Given the description of an element on the screen output the (x, y) to click on. 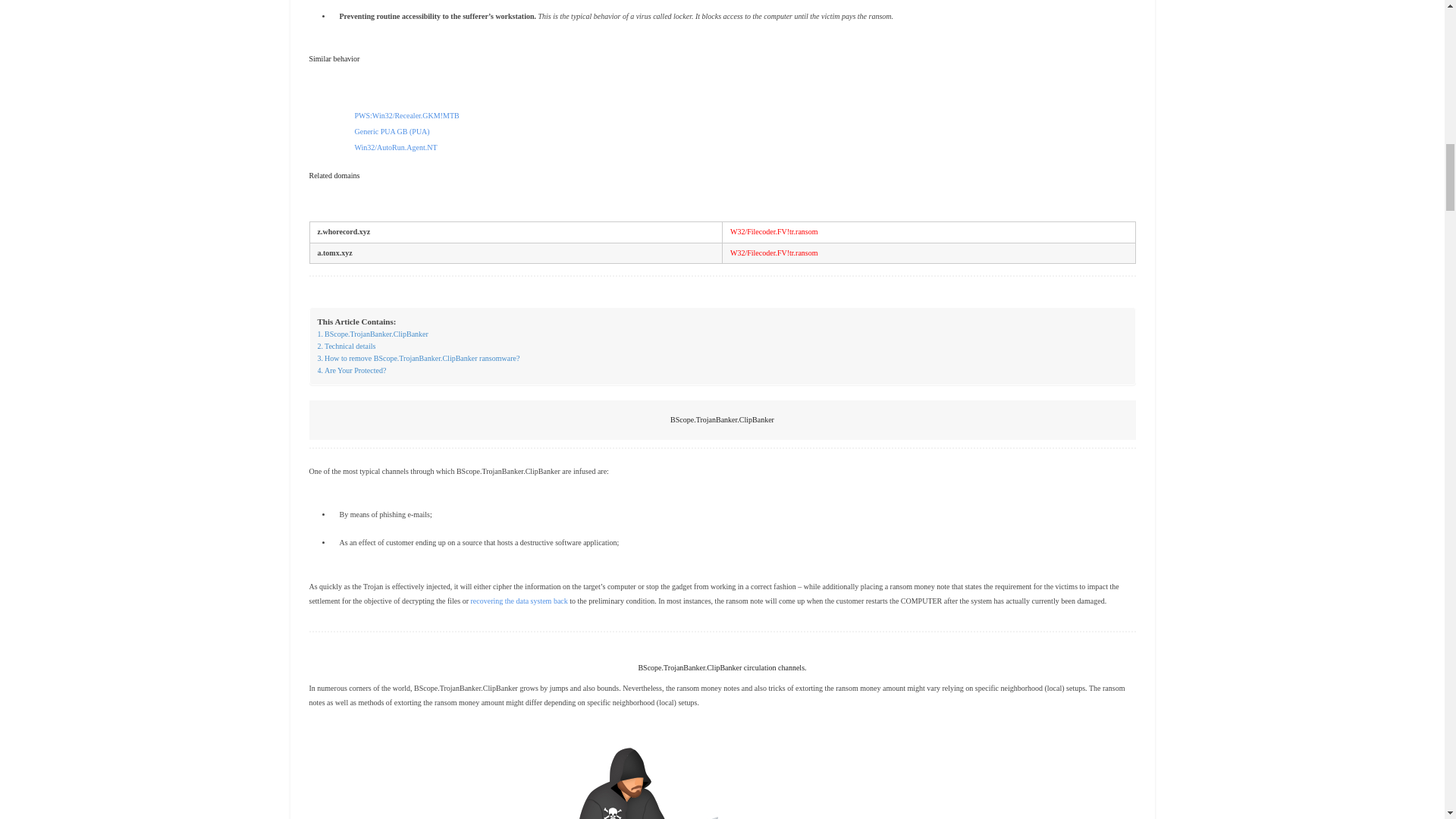
recovering the data system back (518, 601)
Are Your Protected? (351, 370)
Are Your Protected? (351, 370)
How to remove BScope.TrojanBanker.ClipBanker ransomware? (418, 358)
How to remove BScope.TrojanBanker.ClipBanker ransomware? (418, 358)
BScope.TrojanBanker.ClipBanker (372, 334)
Technical details (346, 346)
BScope.TrojanBanker.ClipBanker (372, 334)
Technical details (346, 346)
